Given the description of an element on the screen output the (x, y) to click on. 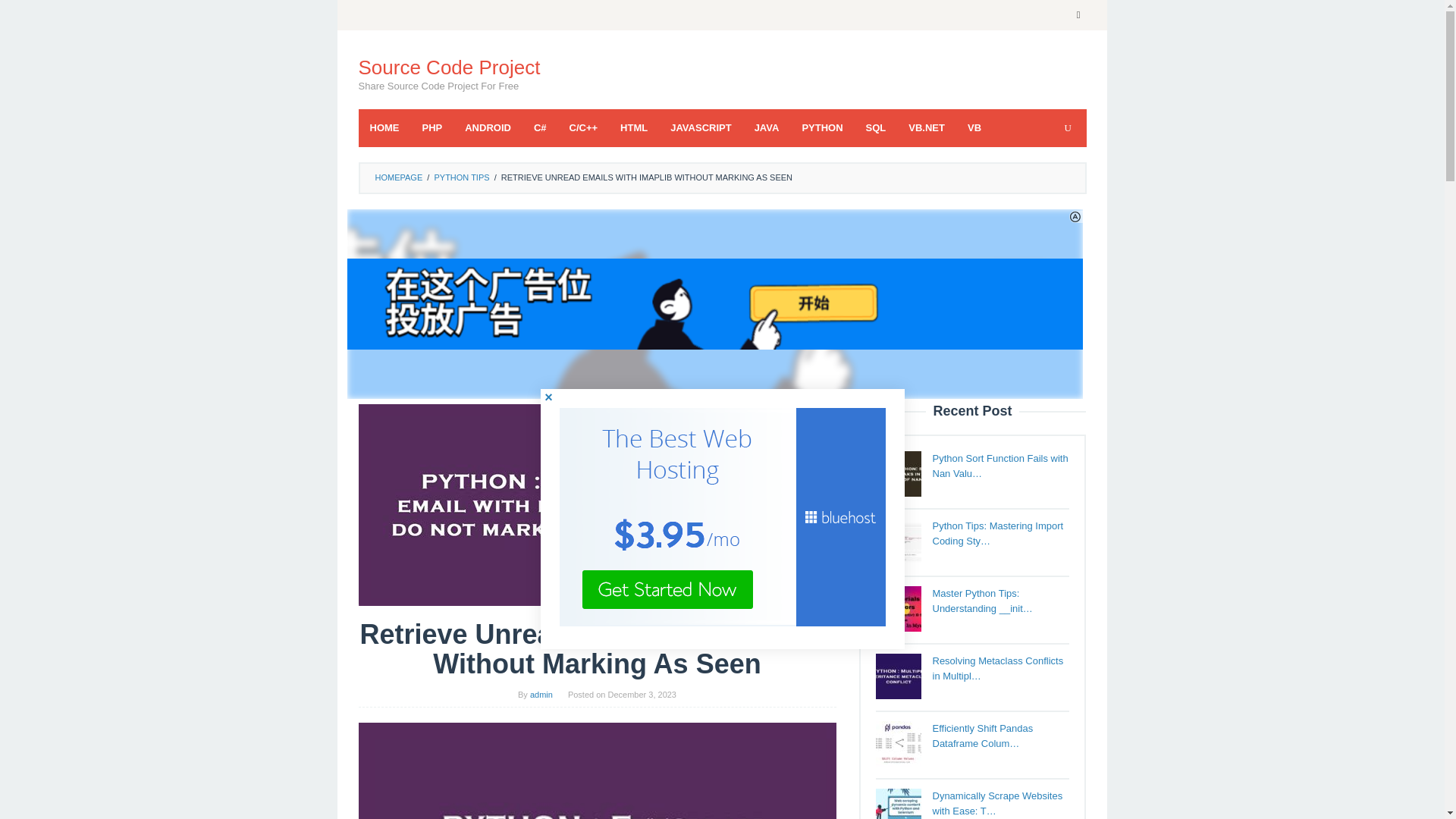
admin (541, 694)
Permalink to: Python Sort Function Fails with Nan Values. (1000, 465)
Retrieve Unread Emails with IMAPlib Without Marking As Seen (596, 770)
SQL (876, 127)
JAVASCRIPT (700, 127)
VB.NET (926, 127)
Source Code Project (449, 67)
Python Sort Function Fails with Nan Values. (897, 473)
PHP (432, 127)
JAVA (766, 127)
